Given the description of an element on the screen output the (x, y) to click on. 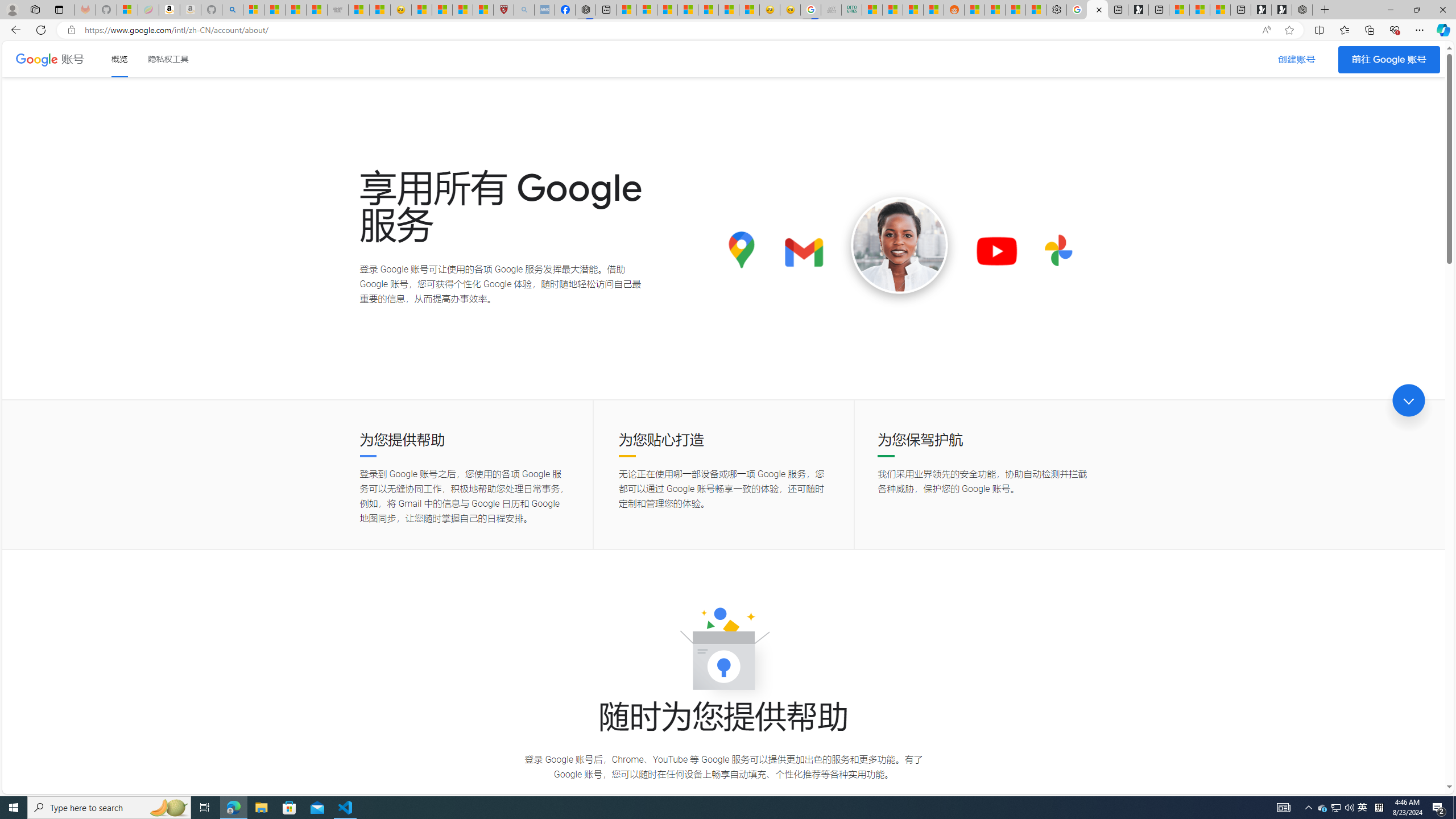
These 3 Stocks Pay You More Than 5% to Own Them (1219, 9)
Fitness - MSN (708, 9)
